Given the description of an element on the screen output the (x, y) to click on. 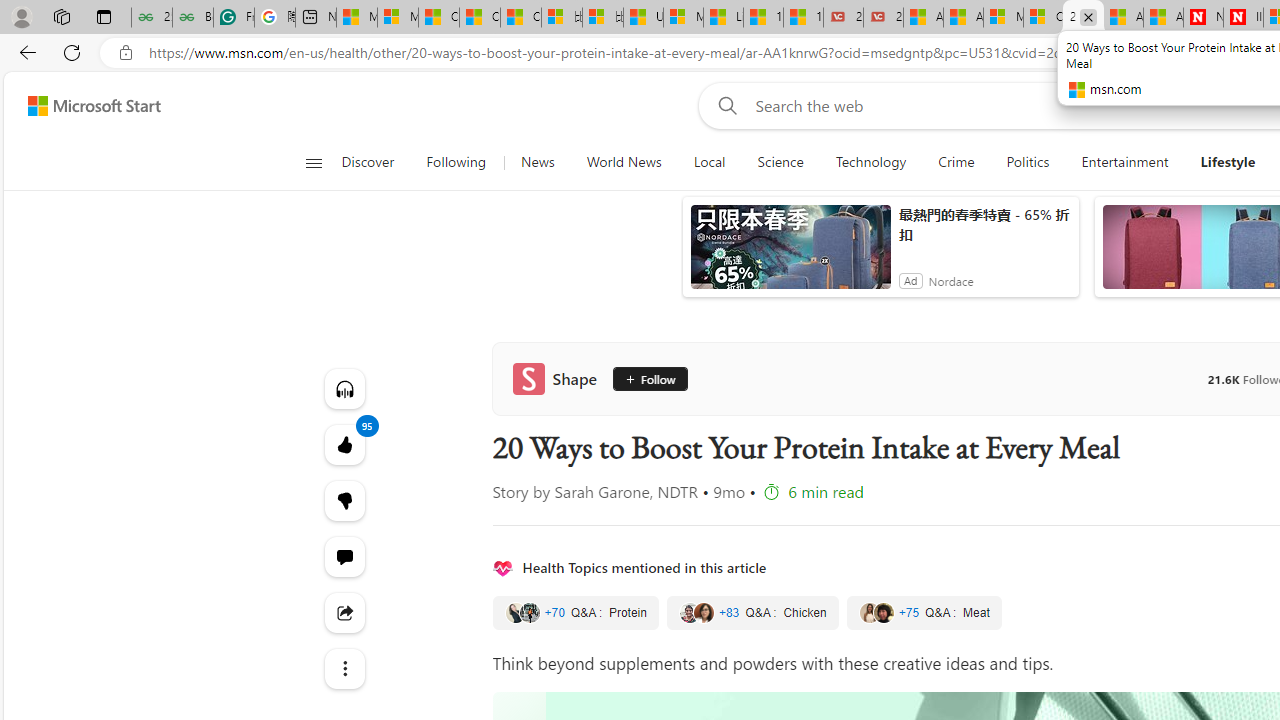
Best SSL Certificates Provider in India - GeeksforGeeks (192, 17)
95 Like (343, 444)
Skip to footer (82, 105)
Local (708, 162)
News (537, 162)
Local (709, 162)
Microsoft Services Agreement (1003, 17)
Crime (956, 162)
Crime (955, 162)
Cloud Computing Services | Microsoft Azure (1043, 17)
Lifestyle (1227, 162)
